Given the description of an element on the screen output the (x, y) to click on. 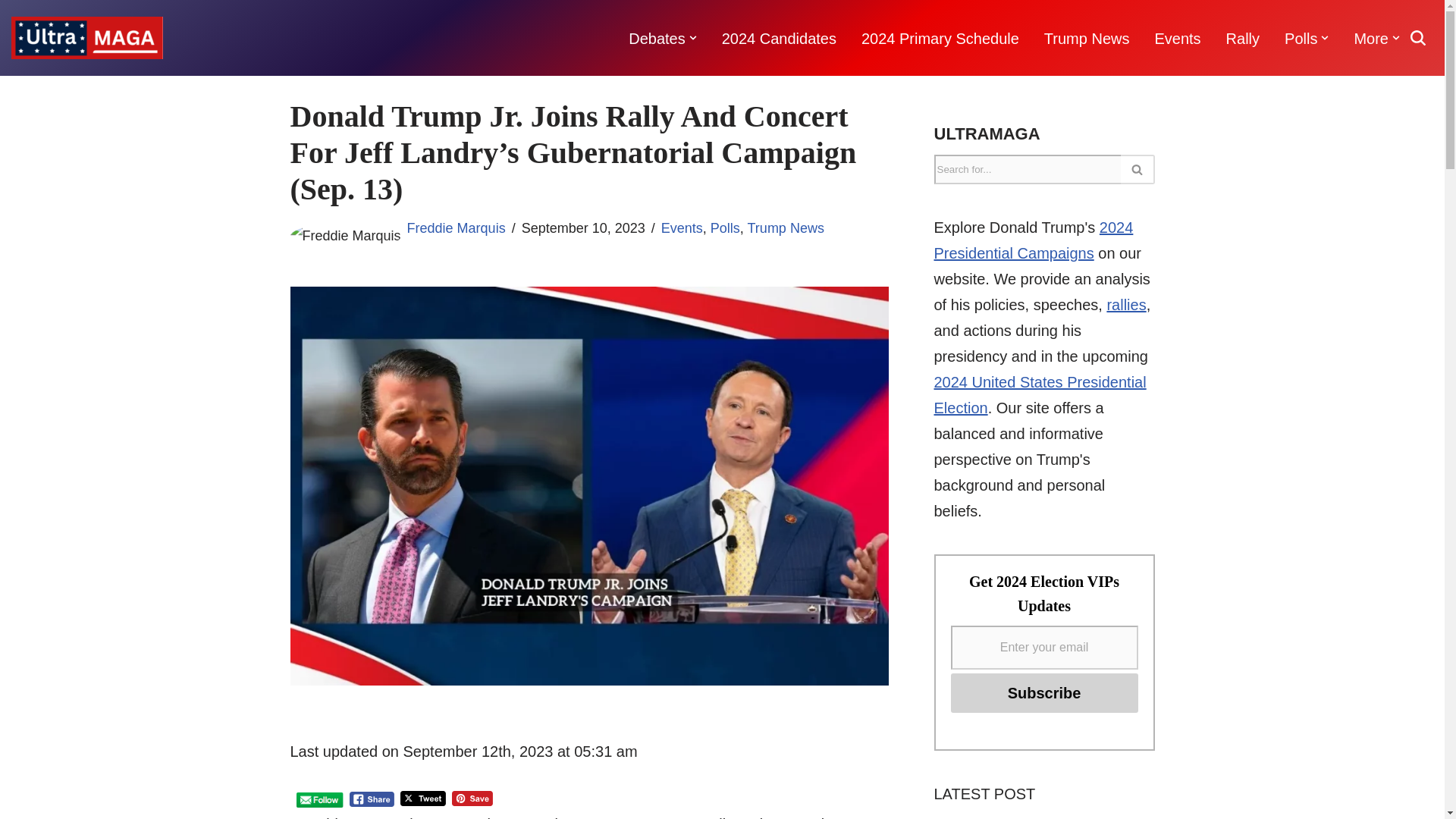
Debates (656, 37)
More (1371, 37)
Posts by Freddie Marquis (456, 227)
Events (1176, 37)
Trump News (1086, 37)
Subscribe (1044, 692)
Pin Share (472, 798)
2024 Primary Schedule (940, 37)
Navigation Menu (1420, 17)
Facebook Share (371, 798)
Rally (1242, 37)
Skip to content (11, 31)
Tweet (422, 798)
Polls (1300, 37)
2024 Candidates (778, 37)
